Given the description of an element on the screen output the (x, y) to click on. 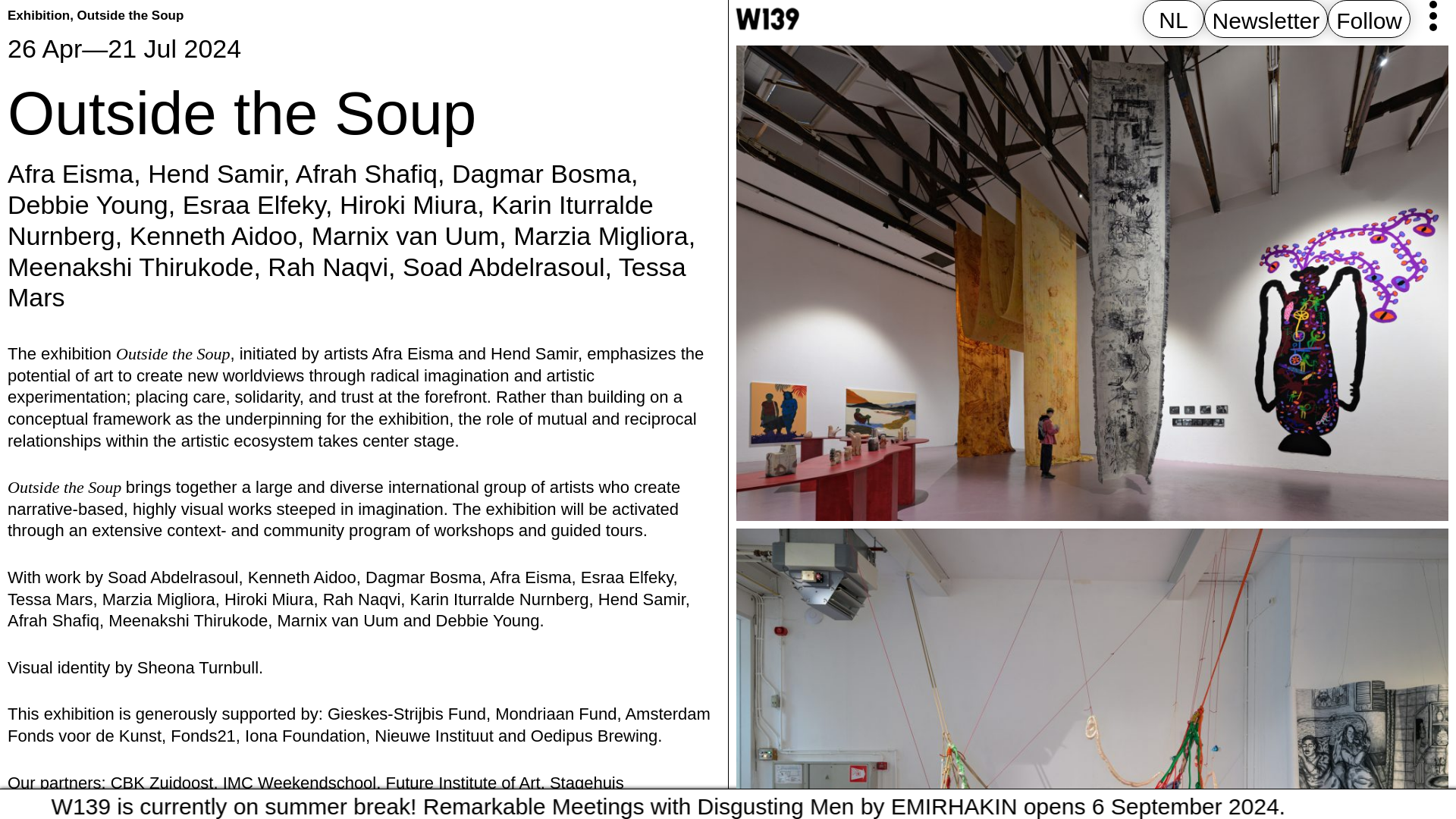
Kenneth Aidoo (213, 235)
Hiroki Miura (408, 204)
Follow (1369, 20)
Marnix van Uum (405, 235)
Hend Samir (215, 173)
Primary Menu (1433, 15)
Karin Iturralde Nurnberg (330, 220)
Marzia Migliora (600, 235)
Meenakshi Thirukode (130, 266)
Newsletter (1266, 20)
